Given the description of an element on the screen output the (x, y) to click on. 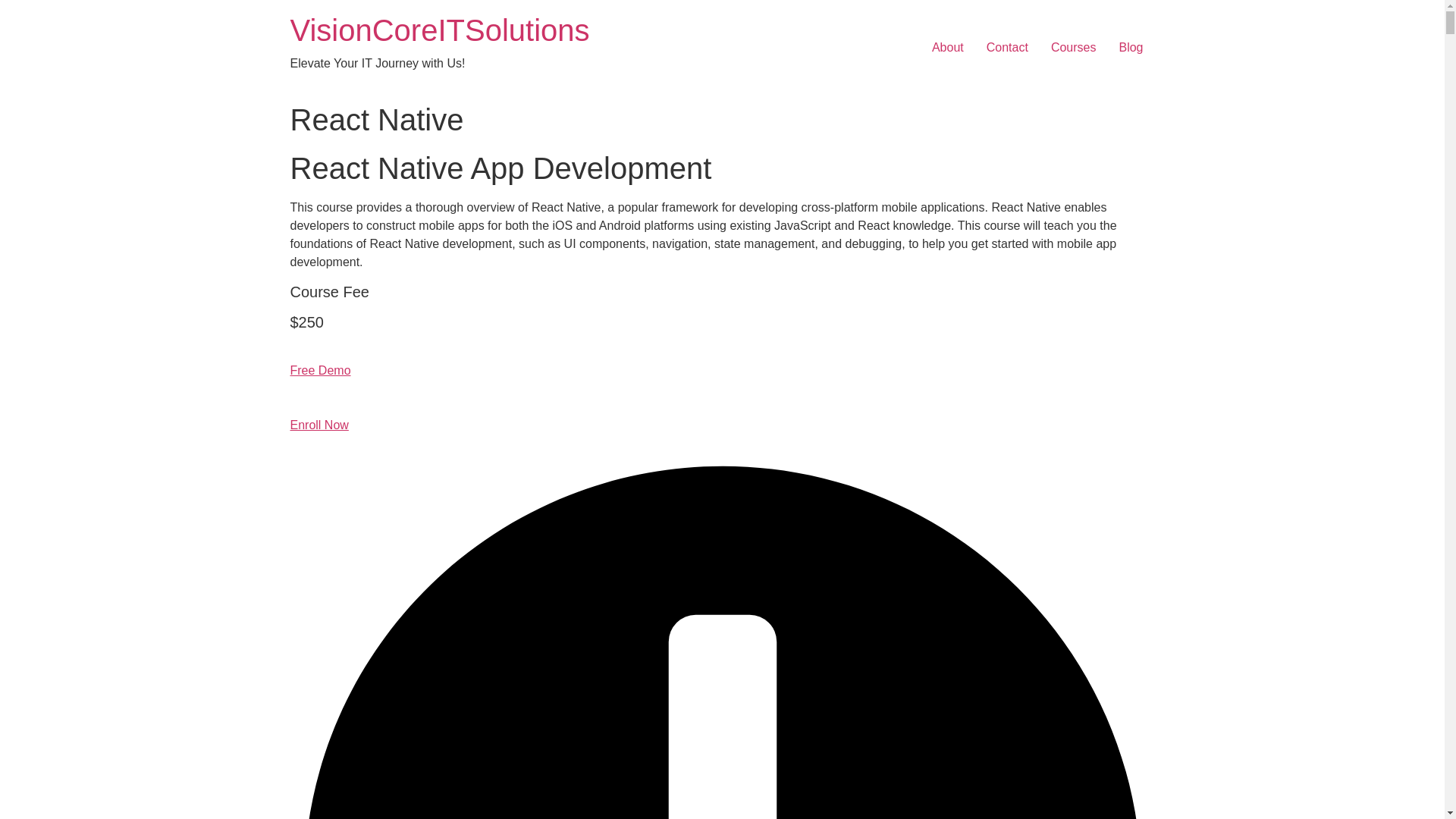
Blog (1130, 47)
Contact (1007, 47)
VisionCoreITSolutions (439, 29)
Enroll Now (318, 433)
Courses (1073, 47)
Free Demo (319, 378)
About (947, 47)
Home (439, 29)
